Given the description of an element on the screen output the (x, y) to click on. 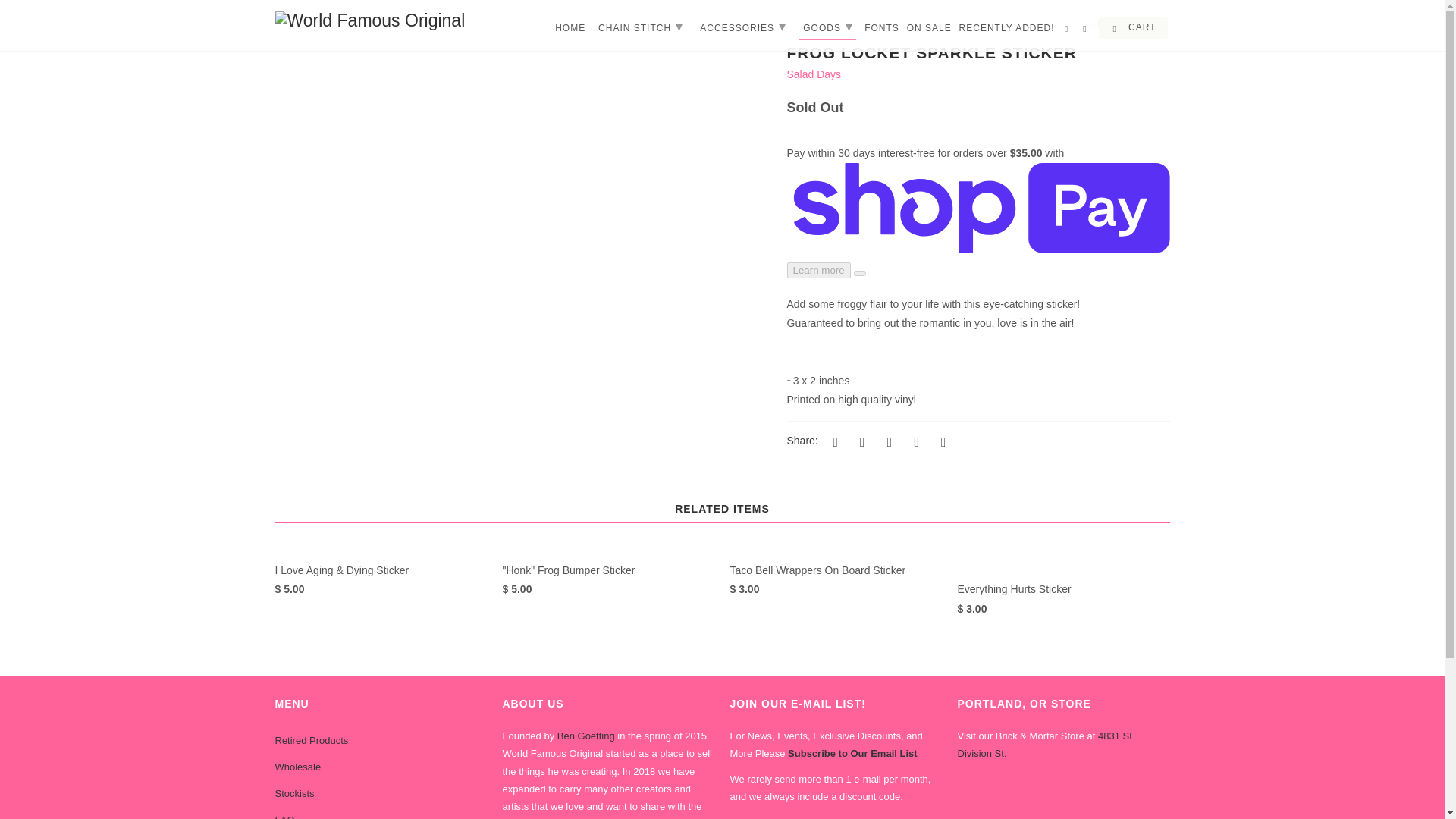
Share this on Twitter (833, 441)
Share this on Facebook (859, 441)
HOME (569, 30)
Salad Days (814, 73)
Ben Goetting (585, 736)
Share this on Pinterest (887, 441)
Email this to a friend (940, 441)
World Famous Original (380, 20)
